Given the description of an element on the screen output the (x, y) to click on. 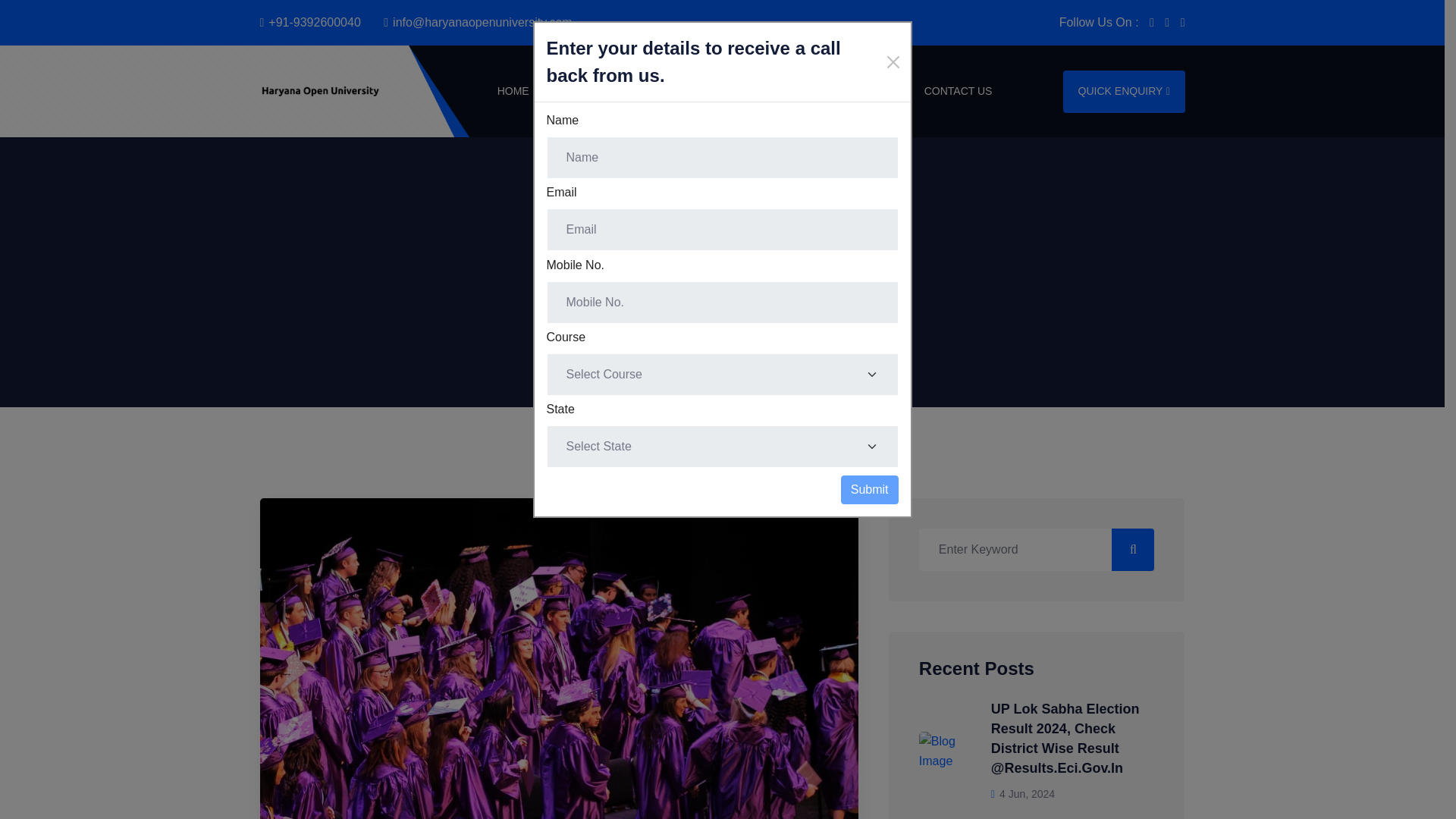
CATEGORY (664, 91)
QUICK ENQUIRY (1123, 90)
PRIVACY POLICY (765, 90)
HOME (513, 90)
CONTACT US (958, 90)
ABOUT US (580, 90)
DISCLAIMER (866, 90)
Phone number with 6-9 and remaing 9 digit with 0-9 (722, 302)
INSTAGRAM (1166, 22)
Twitter (1182, 22)
Facebook (1152, 22)
